Given the description of an element on the screen output the (x, y) to click on. 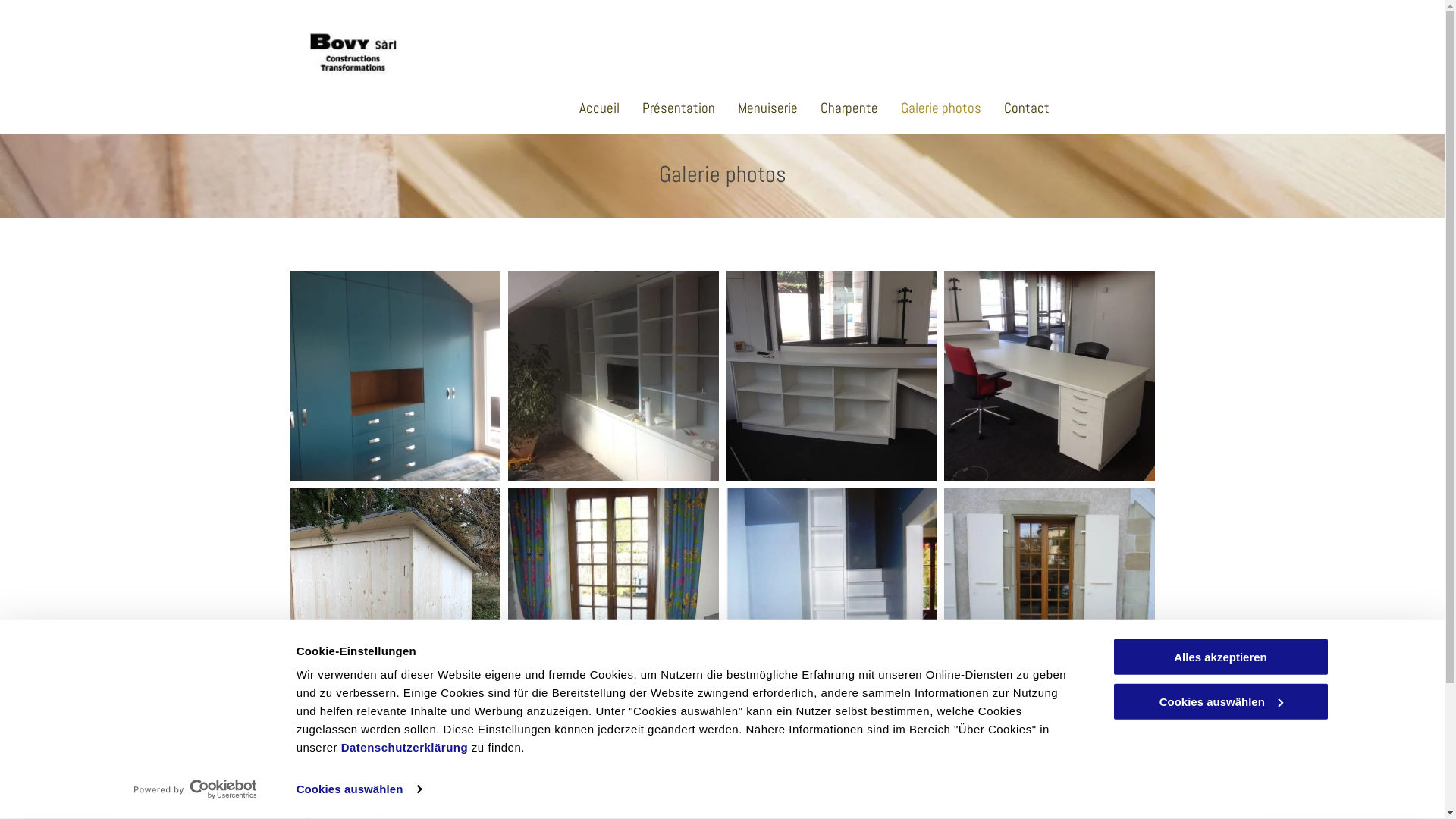
Contact Element type: text (1026, 108)
Accueil Element type: text (599, 108)
Menuiserie Element type: text (767, 108)
Galerie photos Element type: text (940, 108)
Charpente Element type: text (849, 108)
Alles akzeptieren Element type: text (1219, 656)
